Given the description of an element on the screen output the (x, y) to click on. 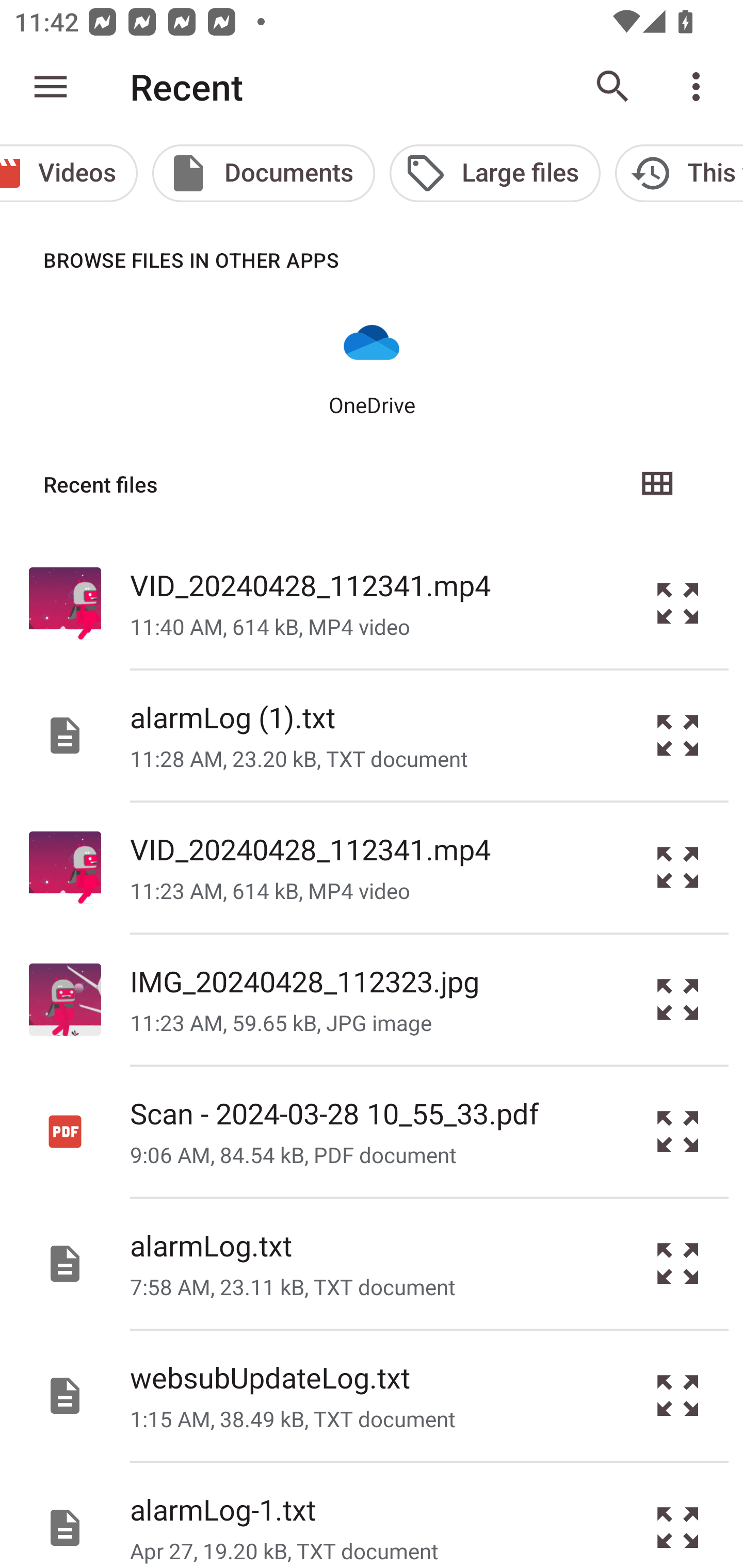
Show roots (50, 86)
Search (612, 86)
More options (699, 86)
Videos (68, 173)
Documents (263, 173)
Large files (494, 173)
This week (679, 173)
OneDrive (371, 365)
Grid view (655, 484)
Preview the file VID_20240428_112341.mp4 (677, 602)
Preview the file alarmLog (1).txt (677, 736)
Preview the file VID_20240428_112341.mp4 (677, 867)
Preview the file IMG_20240428_112323.jpg (677, 999)
Preview the file Scan - 2024-03-28 10_55_33.pdf (677, 1131)
Preview the file alarmLog.txt (677, 1262)
Preview the file websubUpdateLog.txt (677, 1396)
Preview the file alarmLog-1.txt (677, 1515)
